Given the description of an element on the screen output the (x, y) to click on. 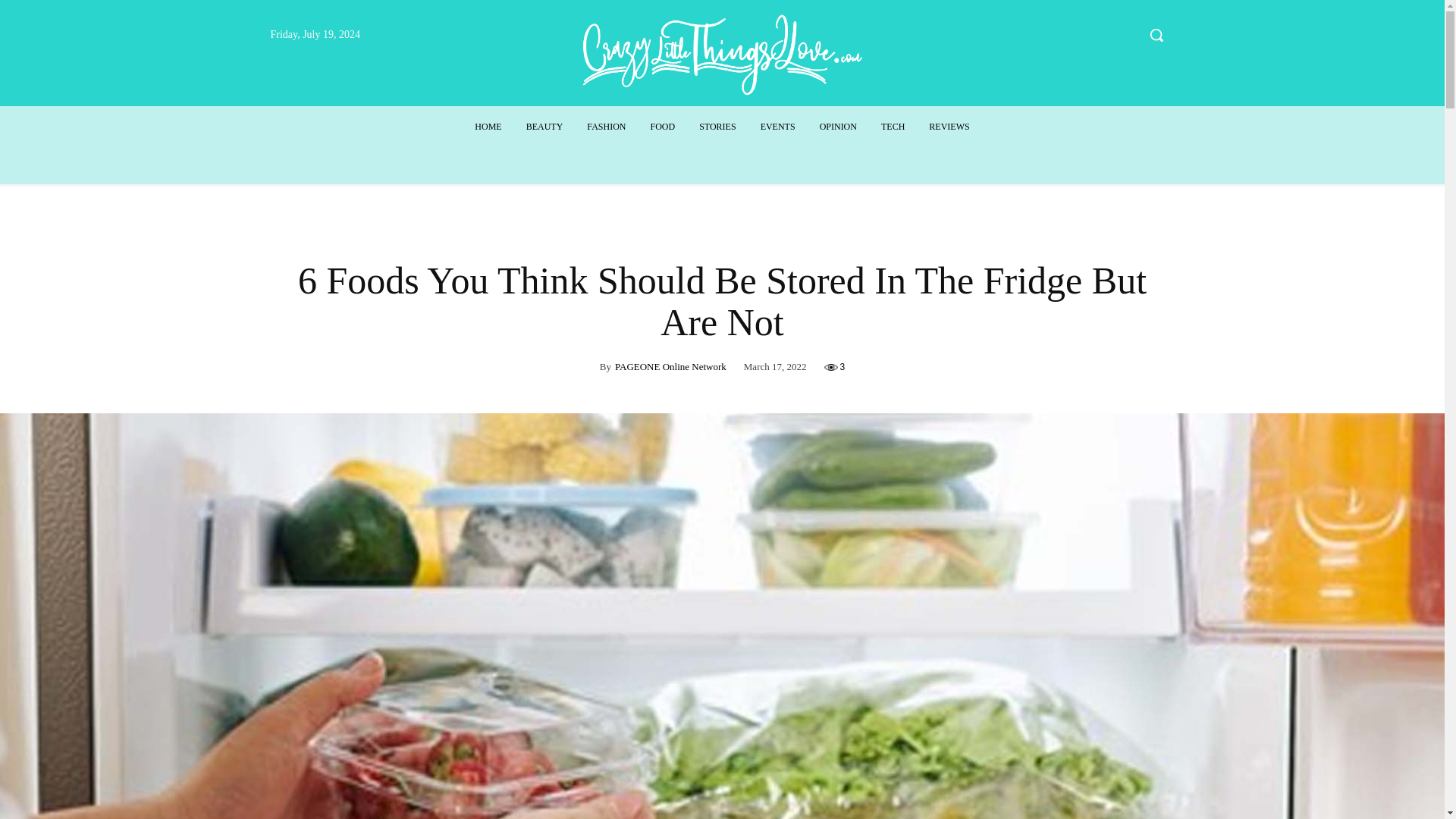
PAGEONE Online Network (670, 366)
HOME (488, 127)
BEAUTY (544, 127)
FASHION (606, 127)
TECH (893, 127)
EVENTS (778, 127)
FOOD (662, 127)
REVIEWS (949, 127)
OPINION (838, 127)
STORIES (717, 127)
